Given the description of an element on the screen output the (x, y) to click on. 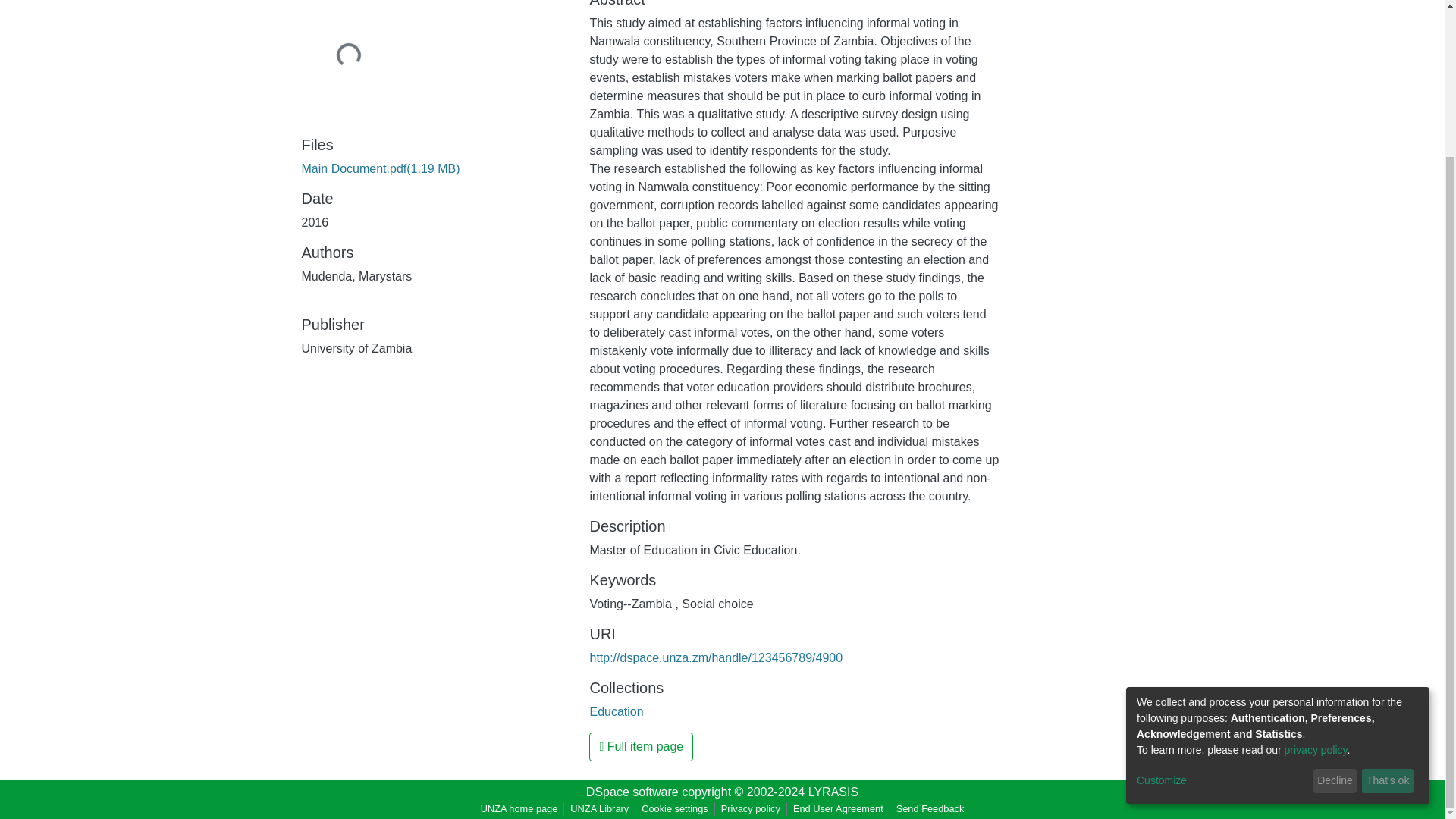
Customize (1222, 596)
Send Feedback (930, 808)
That's ok (1387, 597)
Privacy policy (750, 808)
DSpace software (632, 791)
Education (616, 711)
Cookie settings (674, 808)
End User Agreement (838, 808)
UNZA Library (599, 808)
LYRASIS (833, 791)
Full item page (641, 746)
Decline (1334, 597)
privacy policy (1316, 566)
UNZA home page (519, 808)
